Given the description of an element on the screen output the (x, y) to click on. 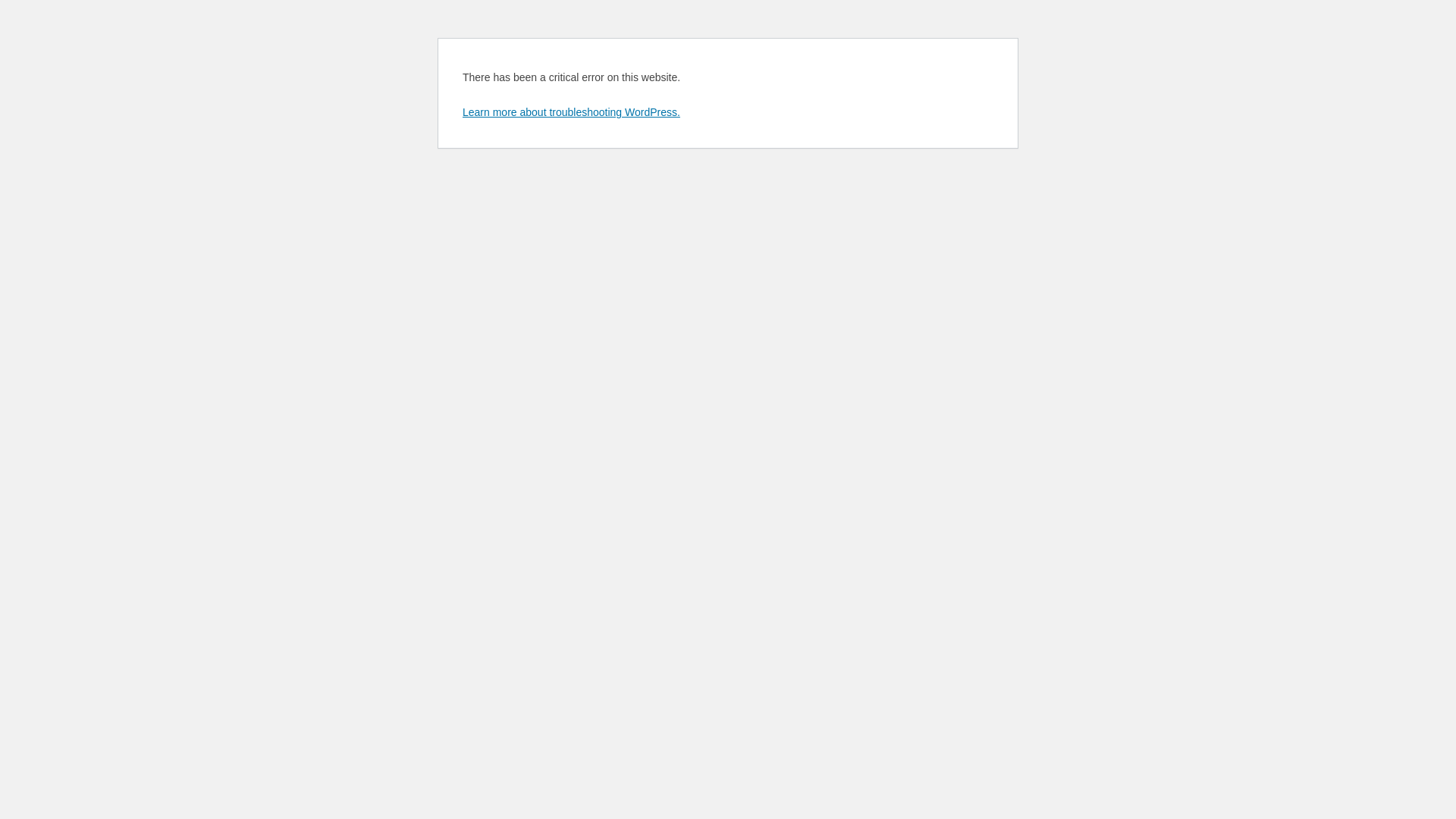
Learn more about troubleshooting WordPress. Element type: text (571, 112)
